Given the description of an element on the screen output the (x, y) to click on. 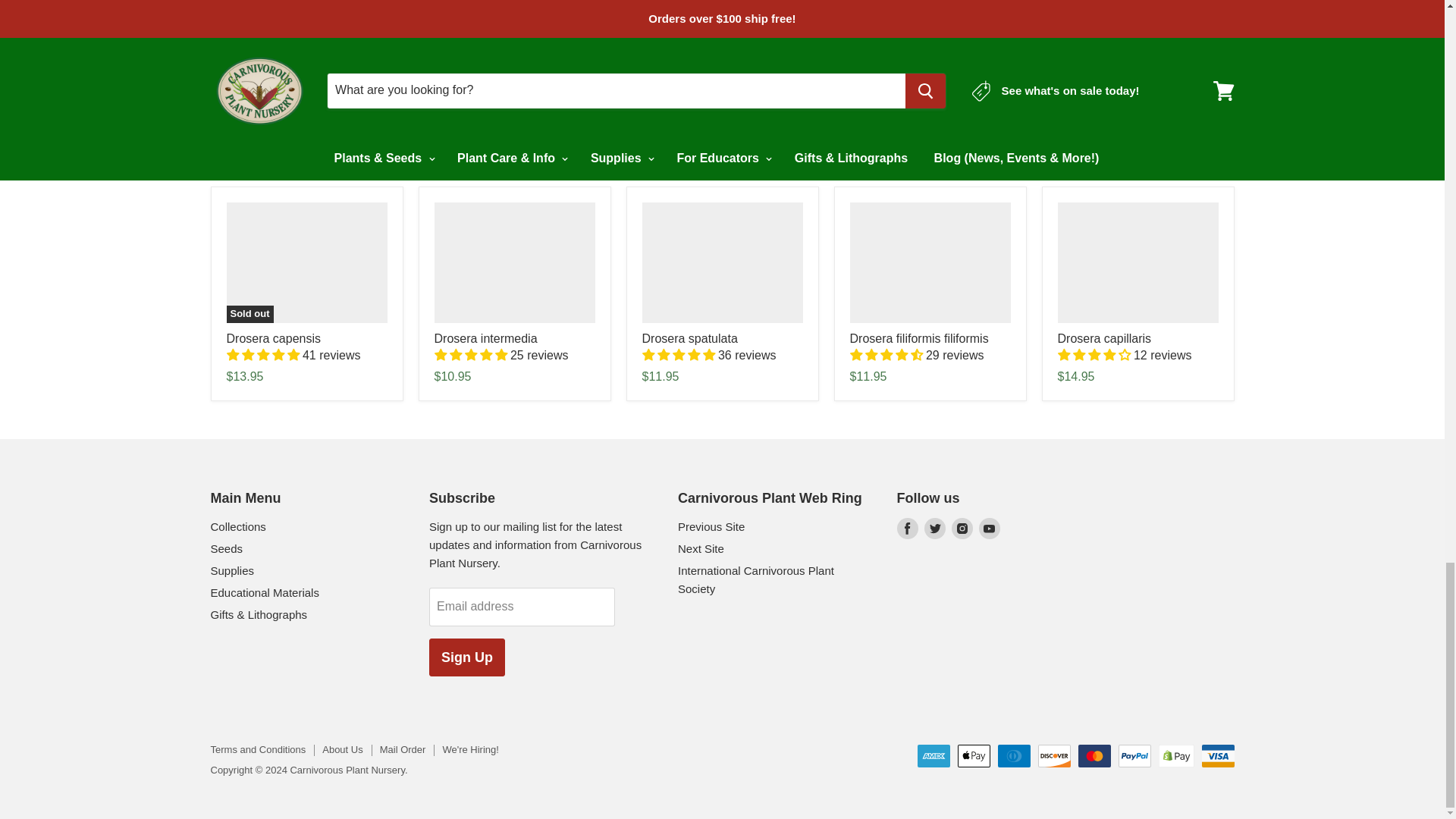
Youtube (989, 528)
Twitter (933, 528)
Instagram (961, 528)
Facebook (906, 528)
